Given the description of an element on the screen output the (x, y) to click on. 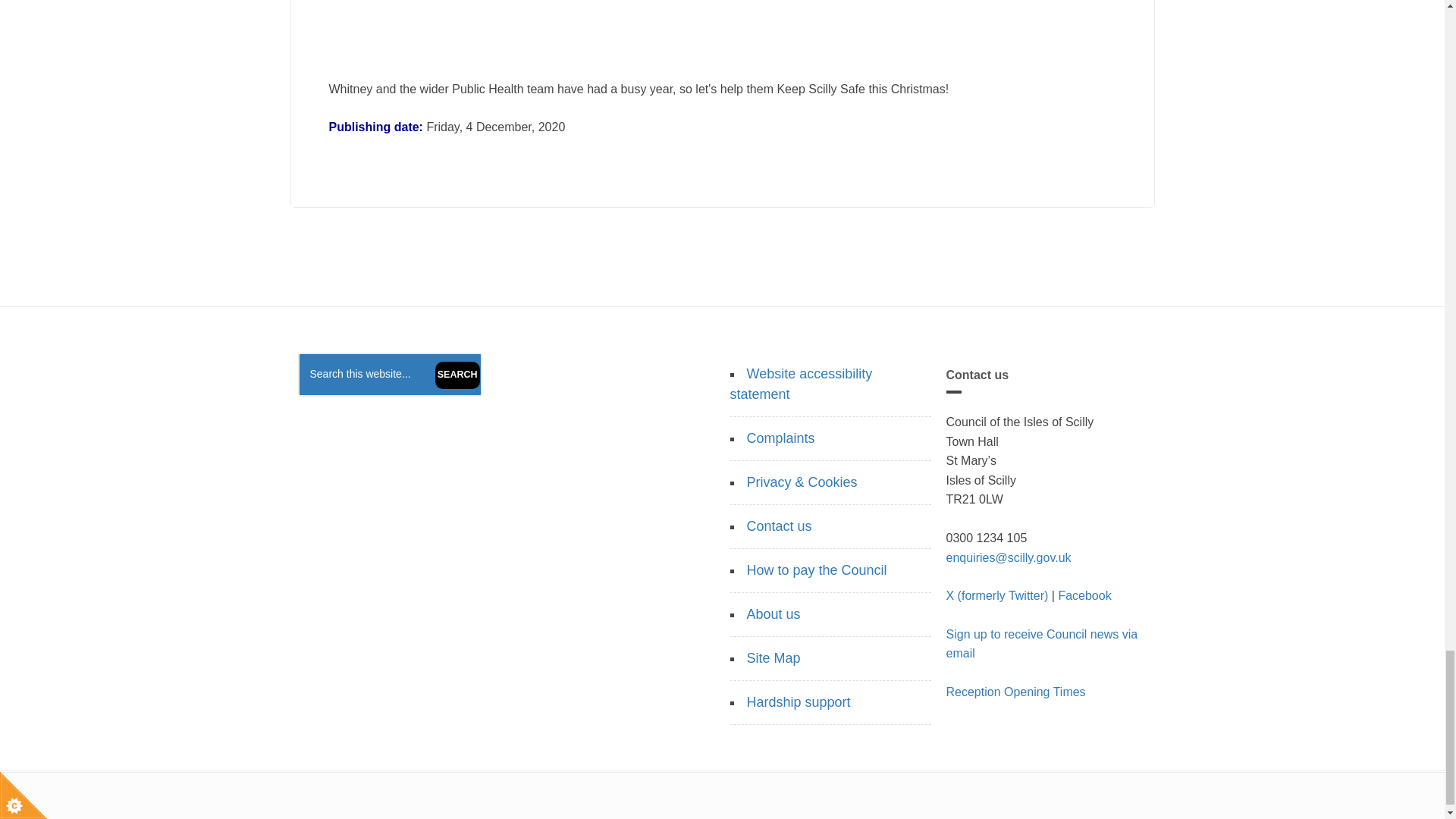
Complaints (779, 437)
Website accessibility statement (800, 384)
Contact us (777, 525)
Site Map (772, 657)
Search (457, 375)
Search this website... (389, 374)
Search (457, 375)
How to pay the Council (815, 570)
About us (772, 613)
